Given the description of an element on the screen output the (x, y) to click on. 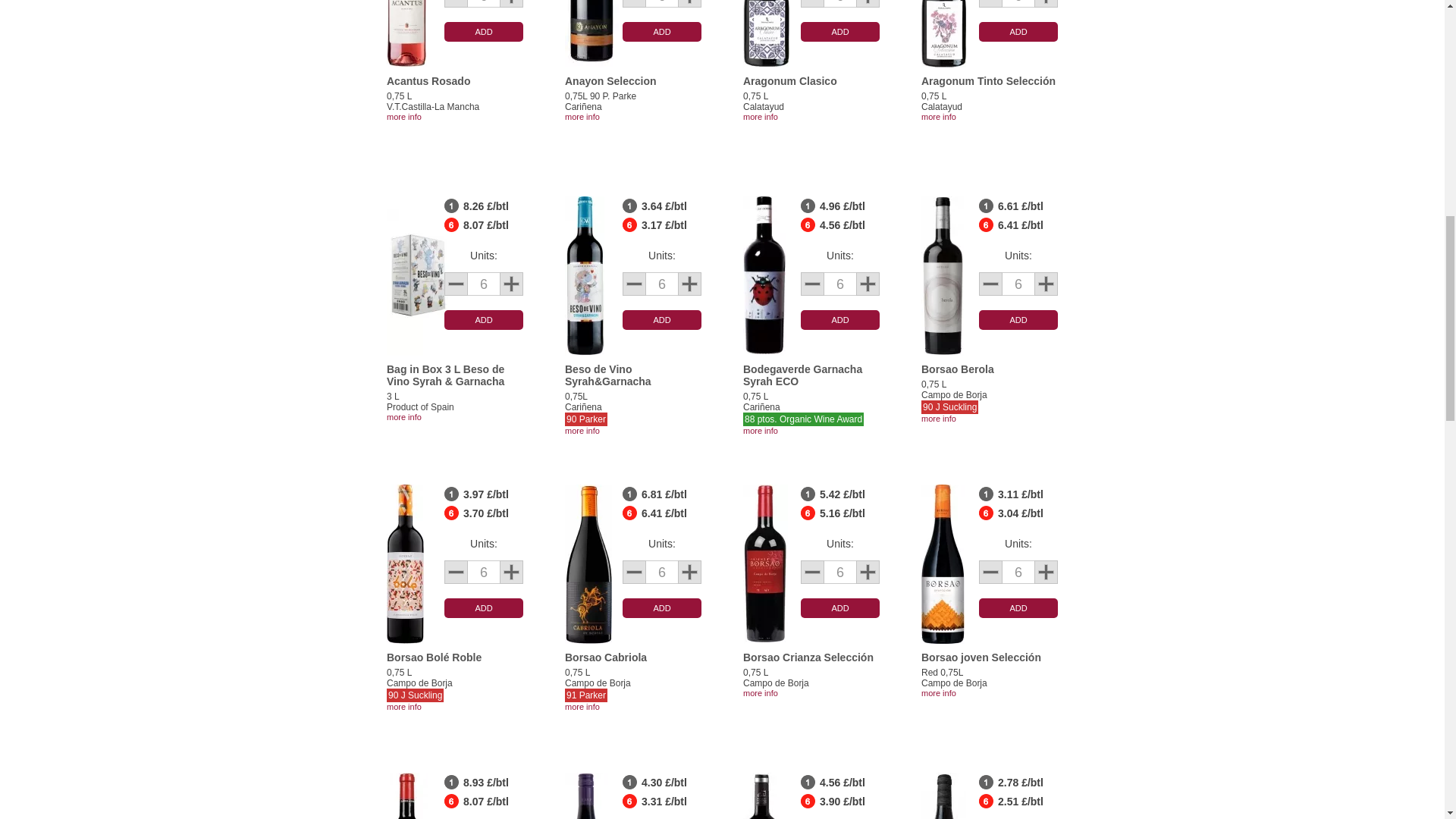
Care Tinto sobre Lias Roble (586, 796)
